Given the description of an element on the screen output the (x, y) to click on. 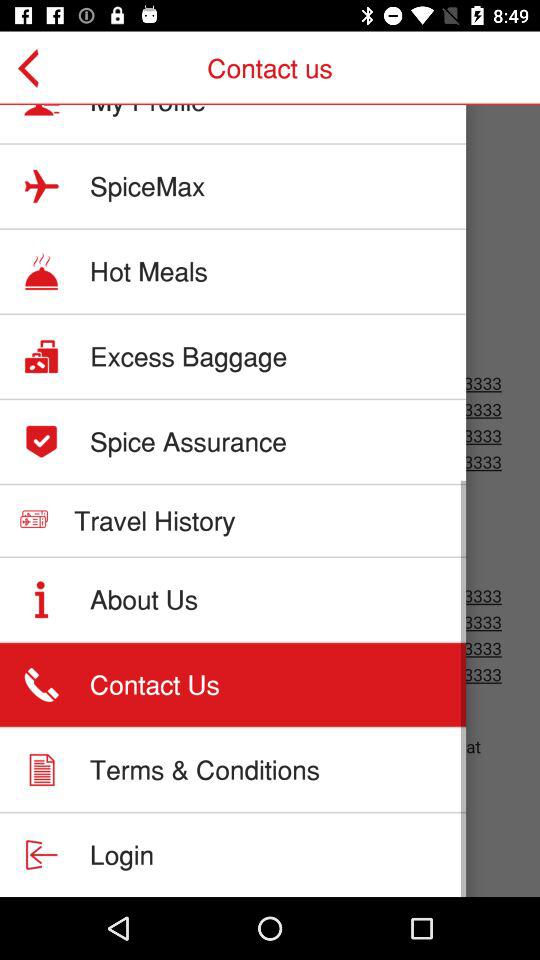
storage details (270, 501)
